Given the description of an element on the screen output the (x, y) to click on. 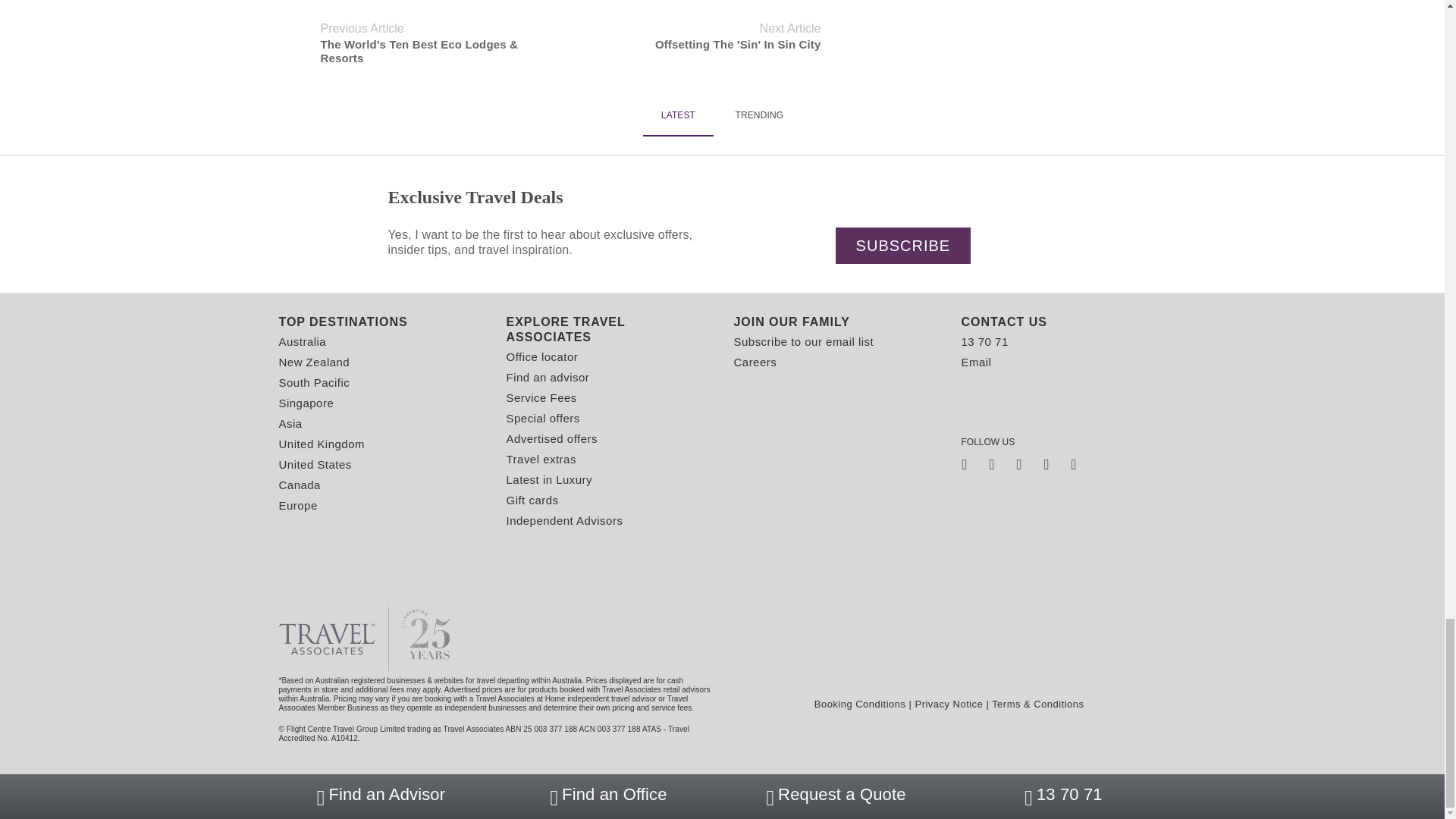
Top Destinations (381, 322)
Contact Us (1063, 322)
Join our family (836, 322)
Explore Travel Associates (608, 329)
